Given the description of an element on the screen output the (x, y) to click on. 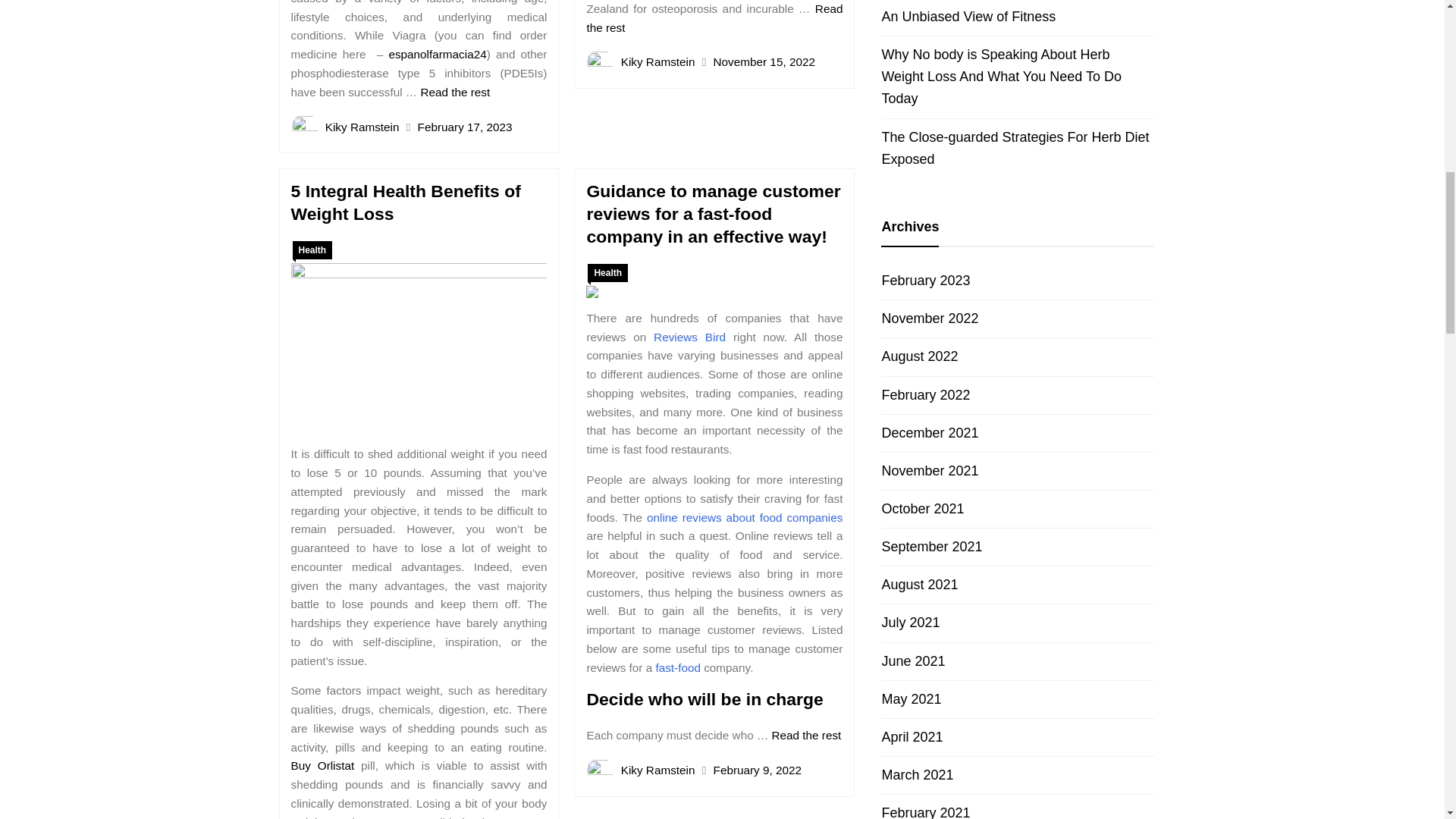
Buy Orlistat (323, 765)
fast-food (677, 667)
Read the rest (806, 735)
November 15, 2022 (764, 61)
Read the rest (454, 91)
Health (607, 272)
Kiky Ramstein (658, 61)
Health (312, 249)
Reviews Bird (689, 336)
Read the rest (714, 18)
February 9, 2022 (757, 769)
5 Integral Health Benefits of Weight Loss (406, 201)
Kiky Ramstein (361, 125)
February 17, 2023 (464, 125)
